Given the description of an element on the screen output the (x, y) to click on. 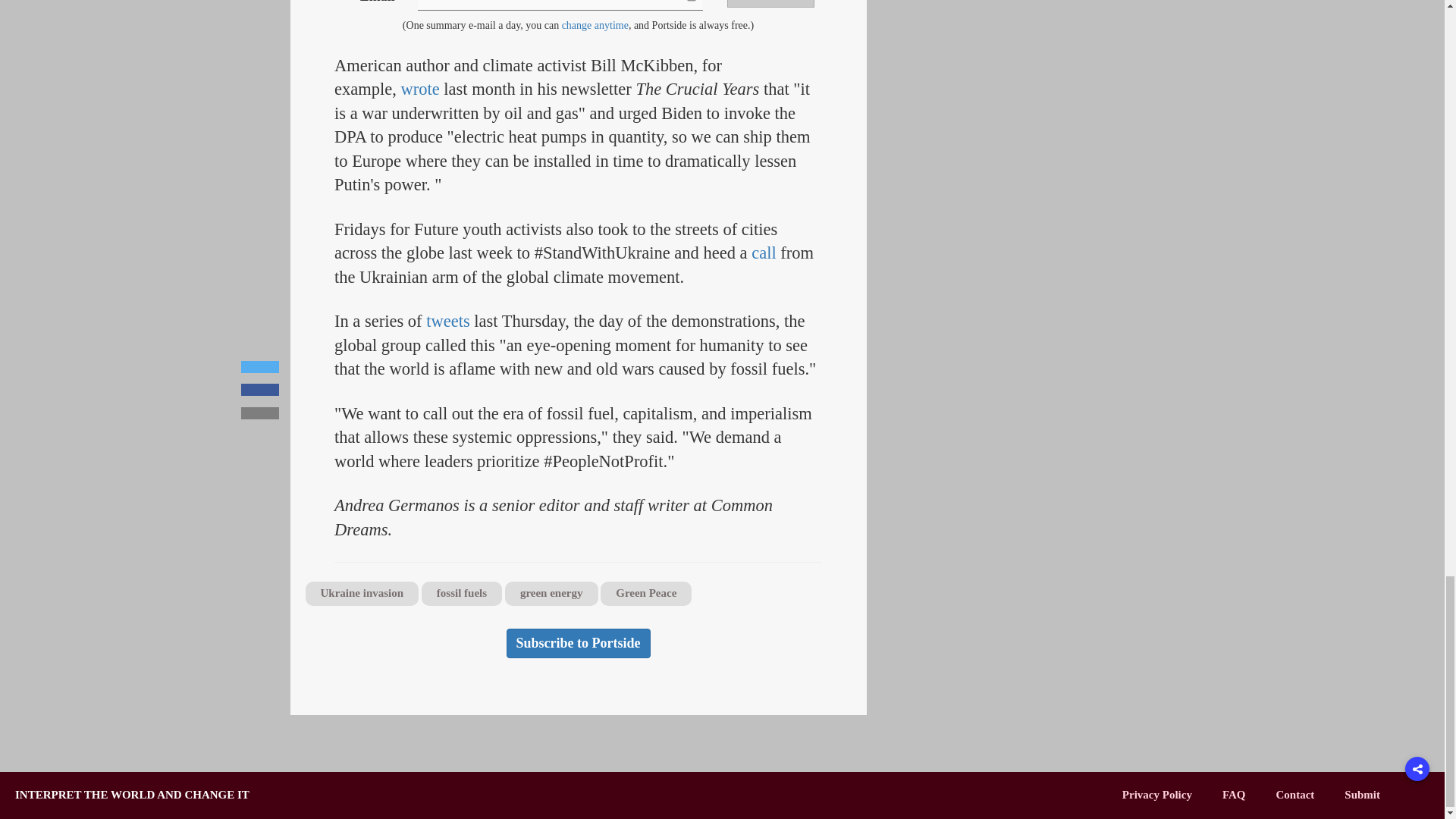
Subscribe (769, 3)
tweets (447, 321)
fossil fuels (462, 593)
Ukraine invasion (361, 593)
Subscribe (769, 3)
Frequently Asked Questions (1234, 794)
Green Peace (645, 593)
call (763, 252)
green energy (551, 593)
change anytime (595, 25)
wrote (419, 88)
Submit an article to Portside (1361, 794)
